Given the description of an element on the screen output the (x, y) to click on. 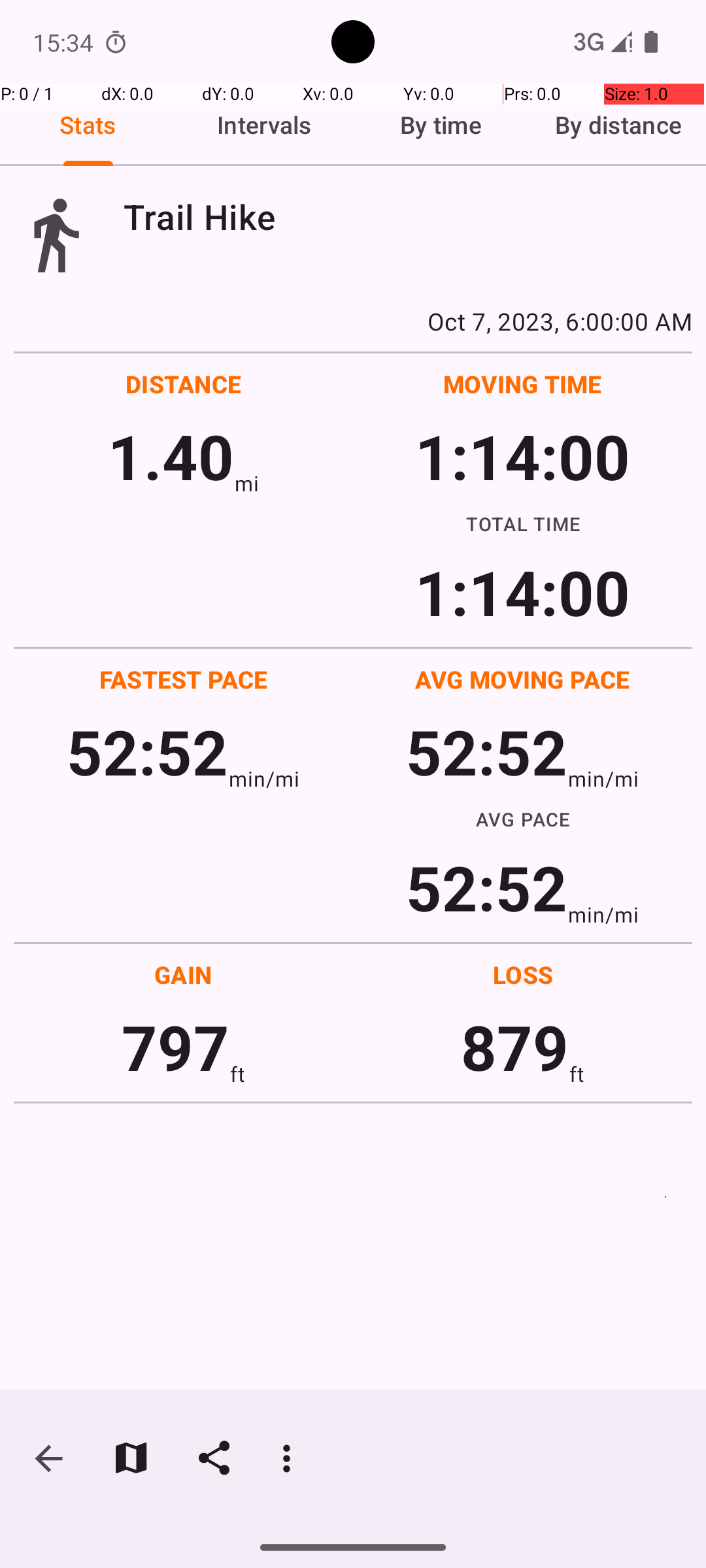
Trail Hike Element type: android.widget.TextView (407, 216)
Oct 7, 2023, 6:00:00 AM Element type: android.widget.TextView (352, 320)
1.40 Element type: android.widget.TextView (170, 455)
1:14:00 Element type: android.widget.TextView (522, 455)
52:52 Element type: android.widget.TextView (147, 750)
797 Element type: android.widget.TextView (175, 1045)
879 Element type: android.widget.TextView (514, 1045)
